Given the description of an element on the screen output the (x, y) to click on. 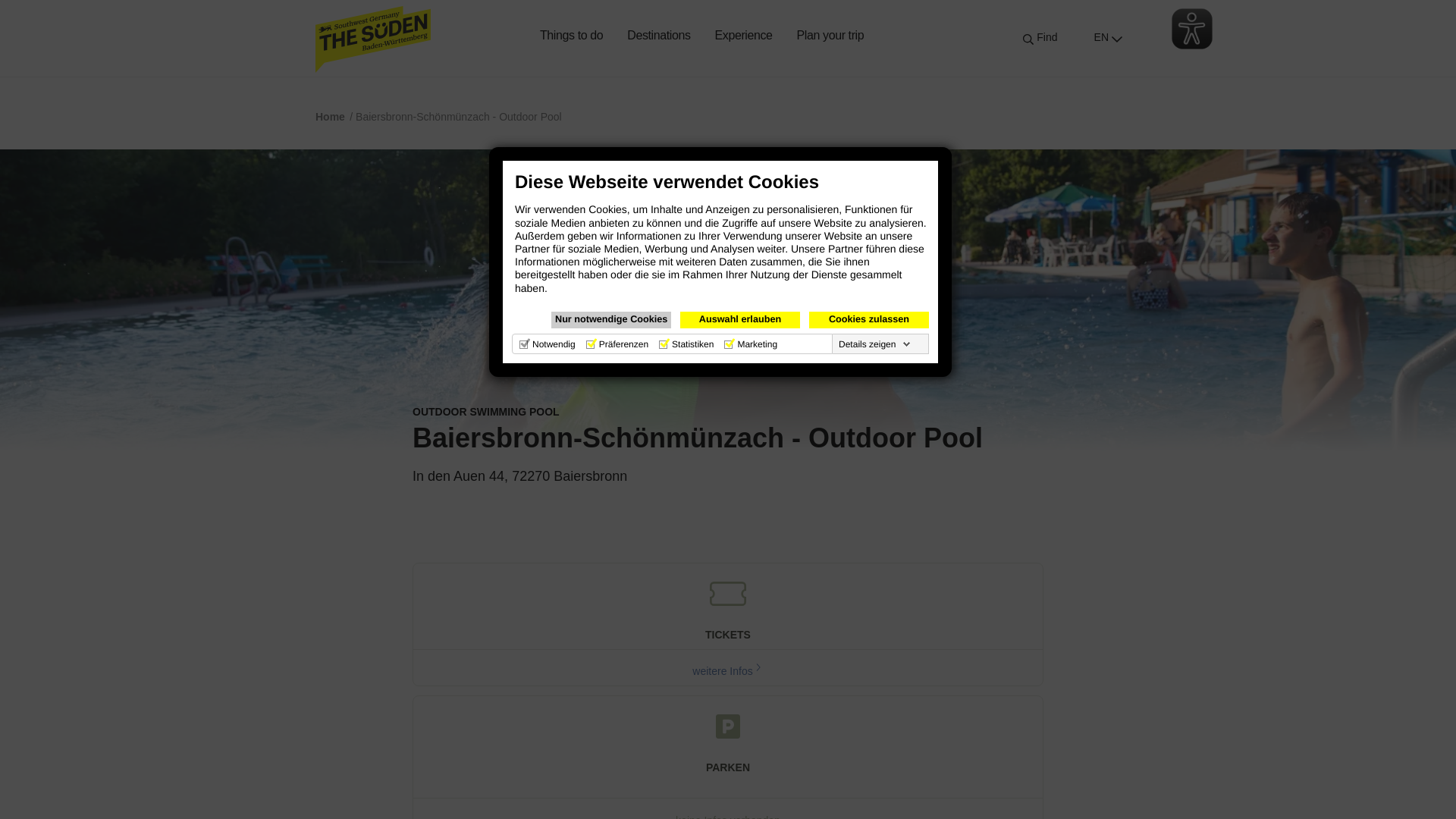
Nur notwendige Cookies (611, 320)
Auswahl erlauben (739, 320)
Cookies zulassen (868, 320)
Details zeigen (874, 344)
